Given the description of an element on the screen output the (x, y) to click on. 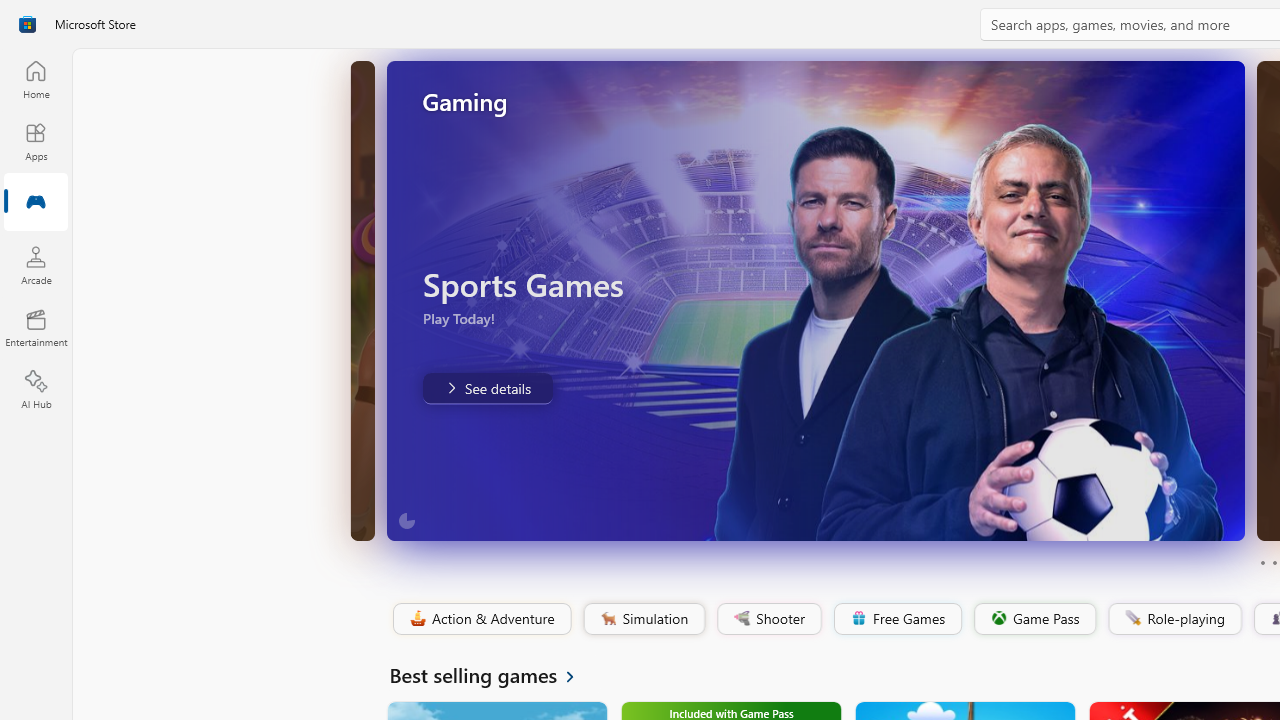
Free Games (897, 619)
AutomationID: Image (815, 300)
Action & Adventure (480, 619)
